Given the description of an element on the screen output the (x, y) to click on. 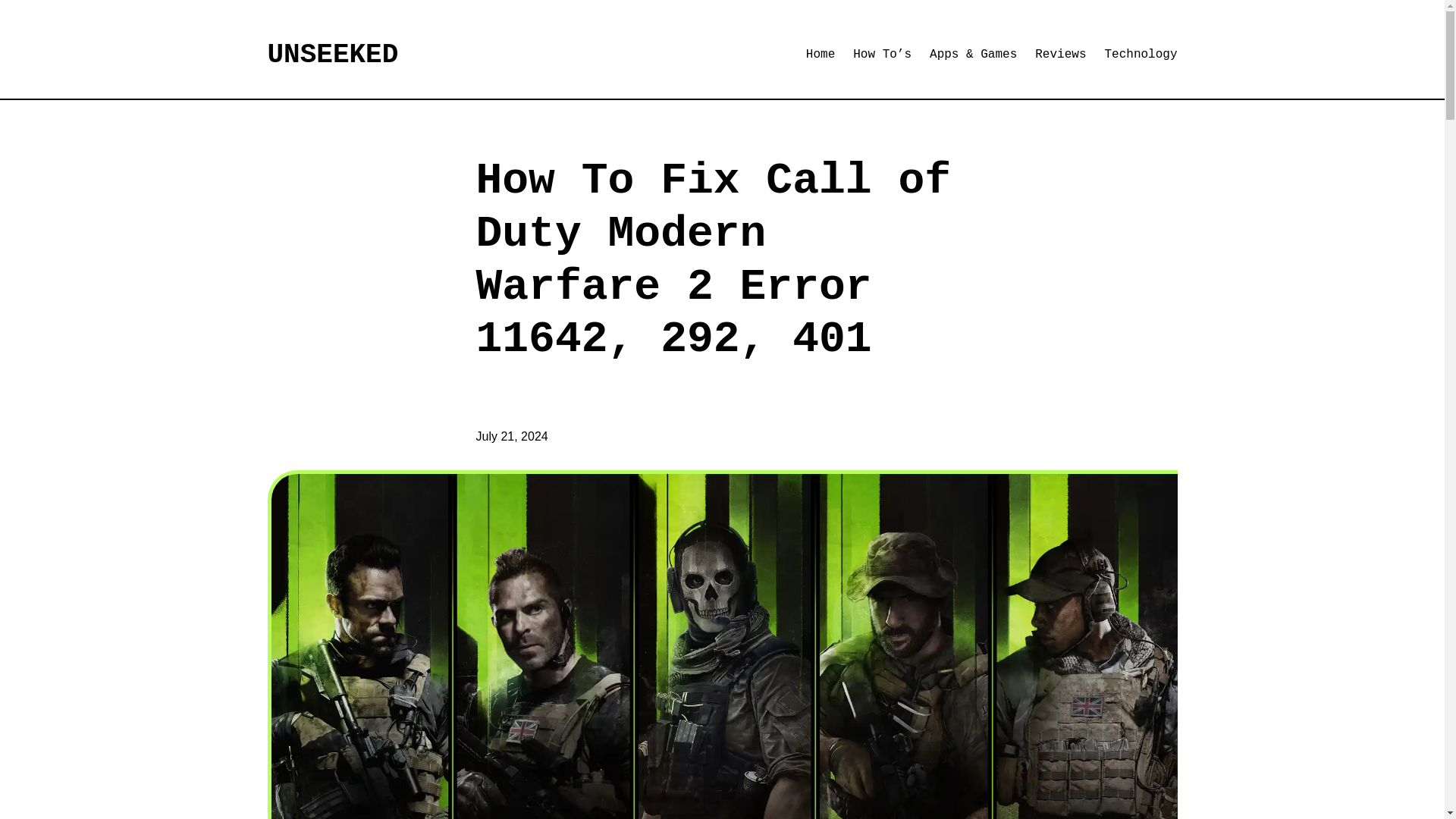
Reviews (1060, 55)
Home (820, 55)
Technology (1139, 55)
UNSEEKED (331, 54)
